Given the description of an element on the screen output the (x, y) to click on. 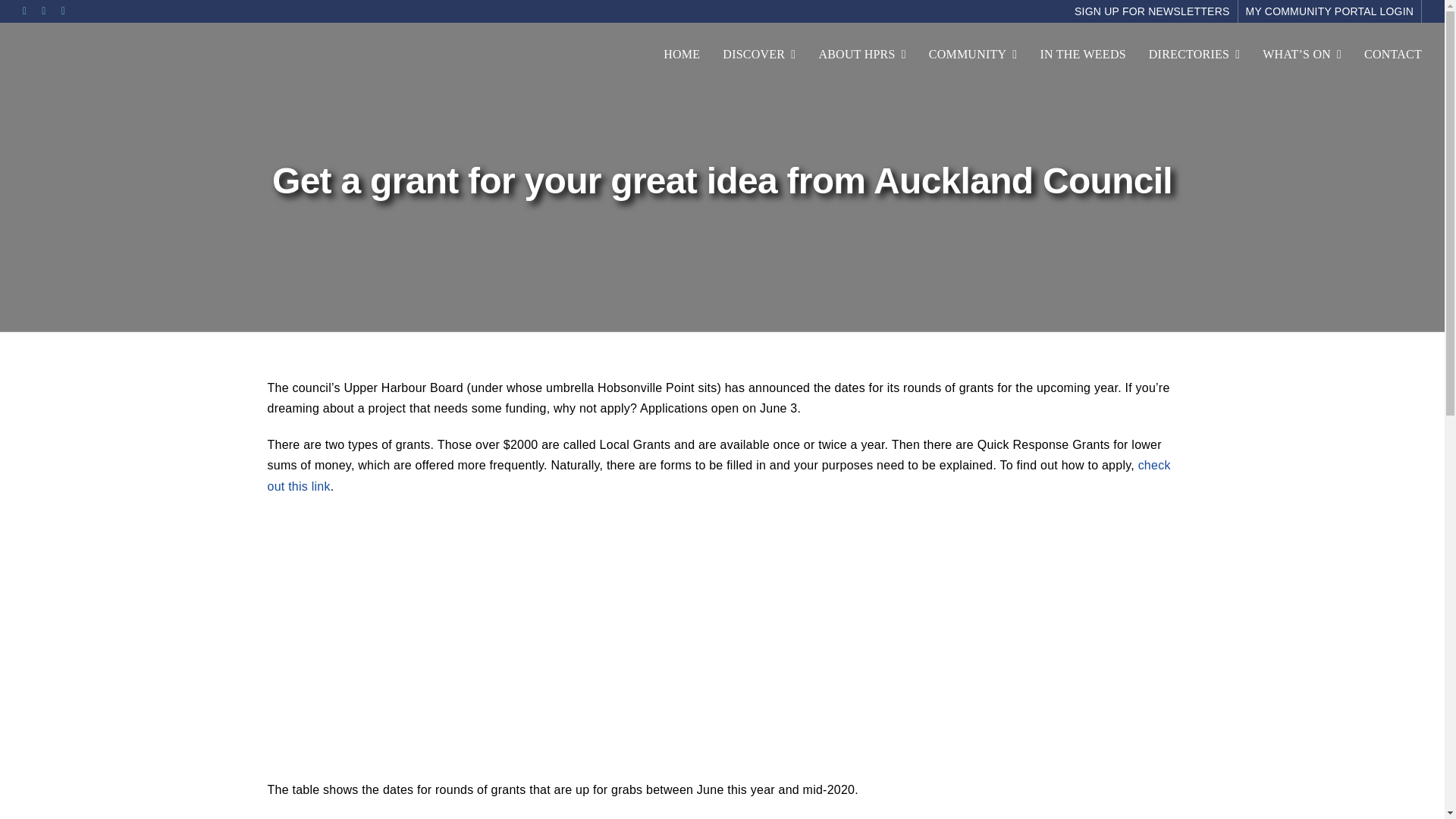
MY COMMUNITY PORTAL LOGIN (1330, 11)
ABOUT HPRS (861, 54)
COMMUNITY (972, 54)
HOME (681, 54)
DISCOVER (758, 54)
SIGN UP FOR NEWSLETTERS (1153, 11)
IN THE WEEDS (1082, 54)
DIRECTORIES (1194, 54)
